Given the description of an element on the screen output the (x, y) to click on. 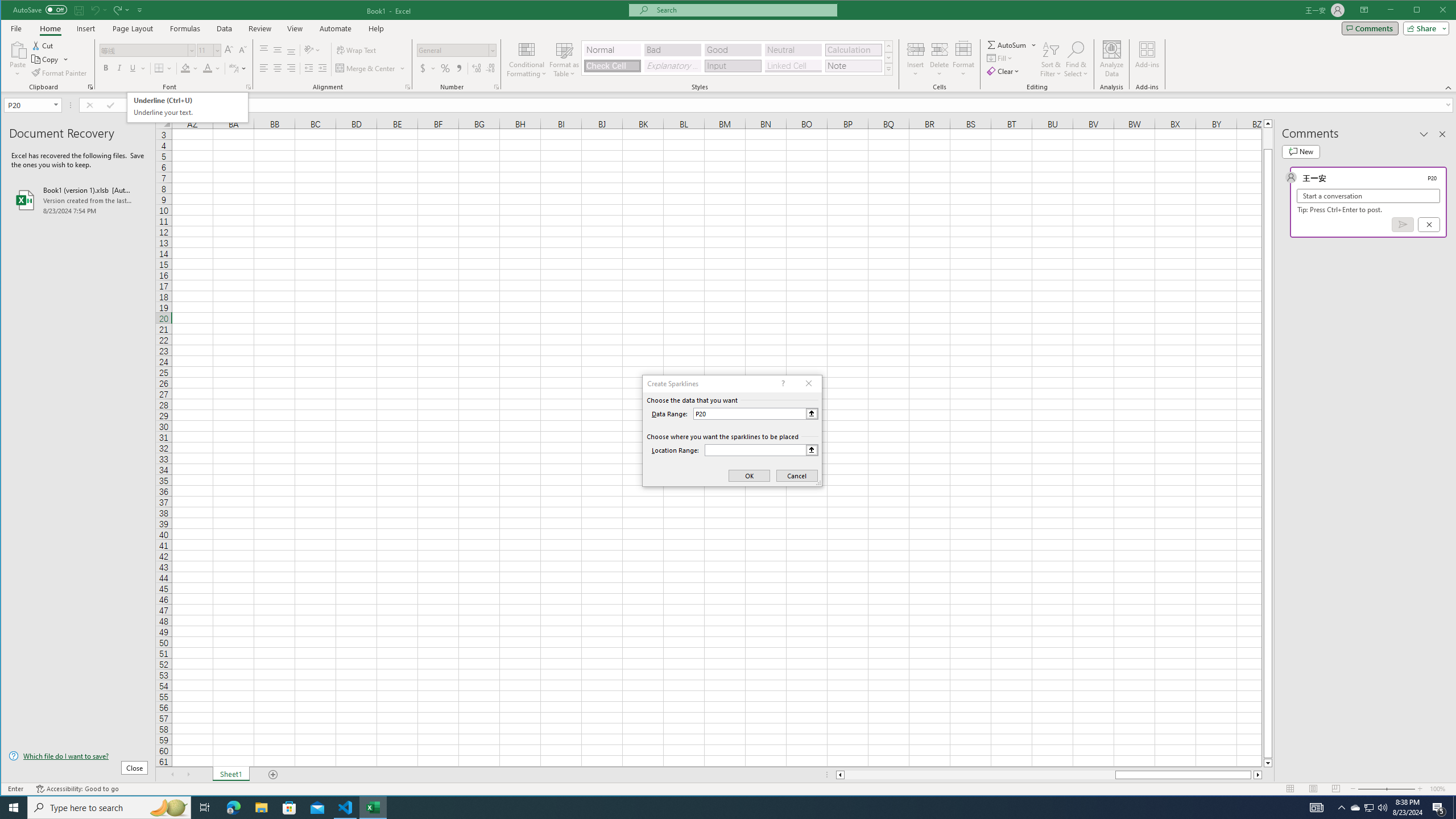
Bottom Border (158, 68)
Decrease Decimal (489, 68)
Fill (1000, 57)
Font Size (205, 50)
Underline (137, 68)
Format Cell Alignment (407, 86)
Fill Color RGB(255, 255, 0) (185, 68)
Show Phonetic Field (237, 68)
